Given the description of an element on the screen output the (x, y) to click on. 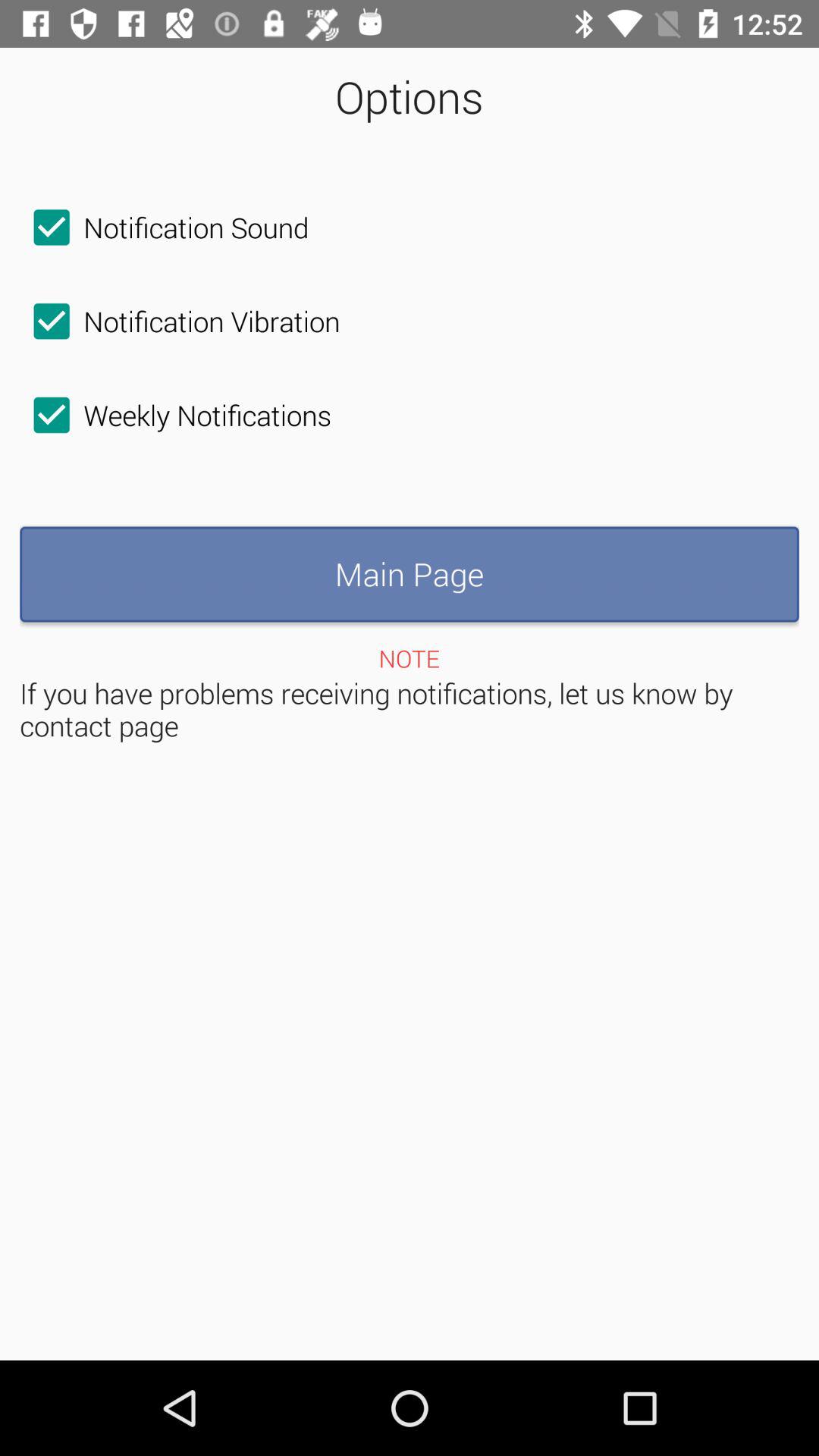
jump until main page (409, 574)
